Given the description of an element on the screen output the (x, y) to click on. 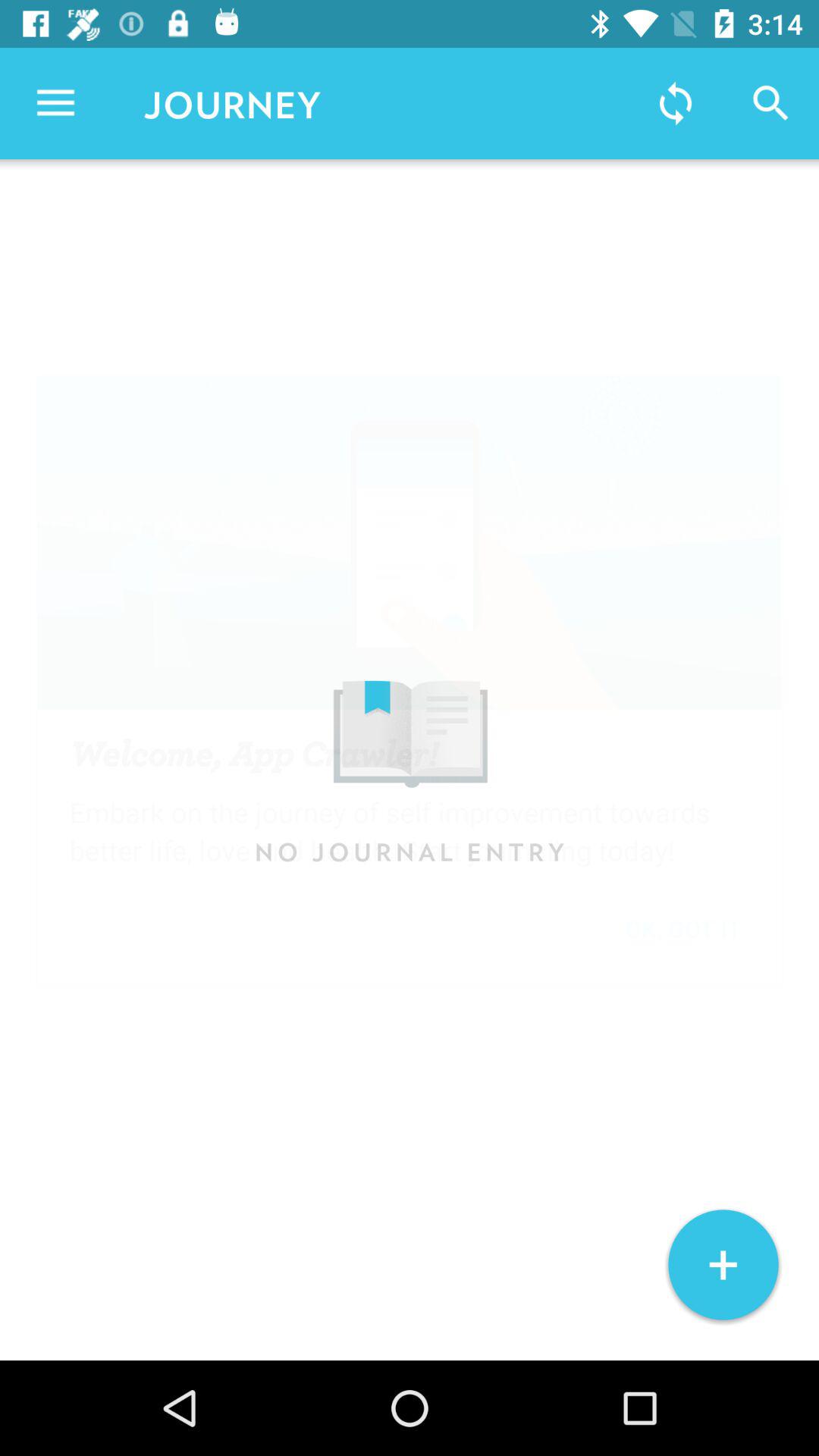
turn off the item next to the journey icon (55, 103)
